Given the description of an element on the screen output the (x, y) to click on. 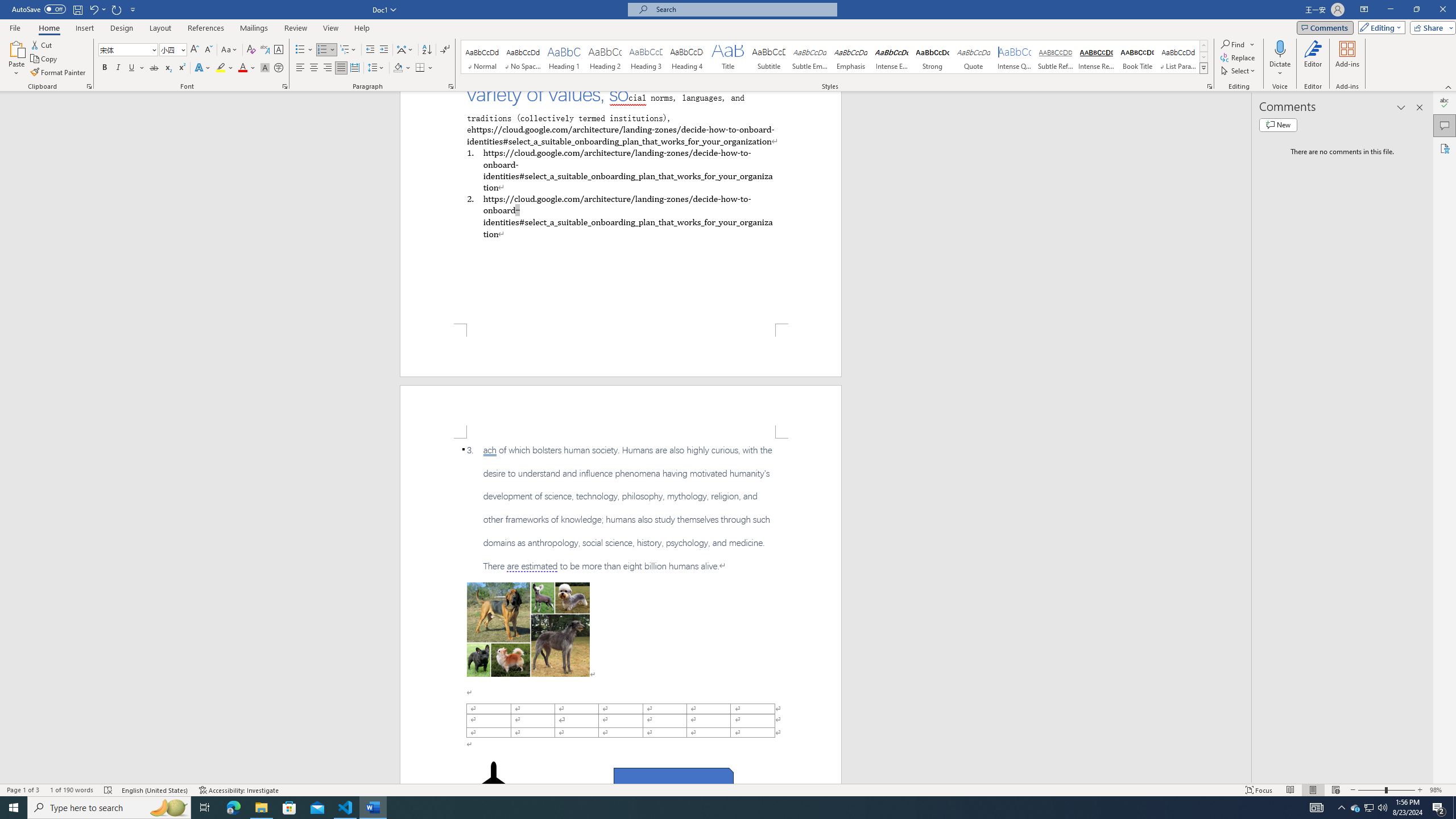
Font Size (169, 49)
Borders (424, 67)
Heading 4 (686, 56)
3. (620, 507)
Comments (1325, 27)
Center (313, 67)
AutomationID: QuickStylesGallery (834, 56)
Emphasis (849, 56)
Heading 1 (564, 56)
Increase Indent (383, 49)
Accessibility Checker Accessibility: Investigate (239, 790)
Bullets (304, 49)
Web Layout (1335, 790)
Subtle Reference (1055, 56)
System (6, 6)
